Given the description of an element on the screen output the (x, y) to click on. 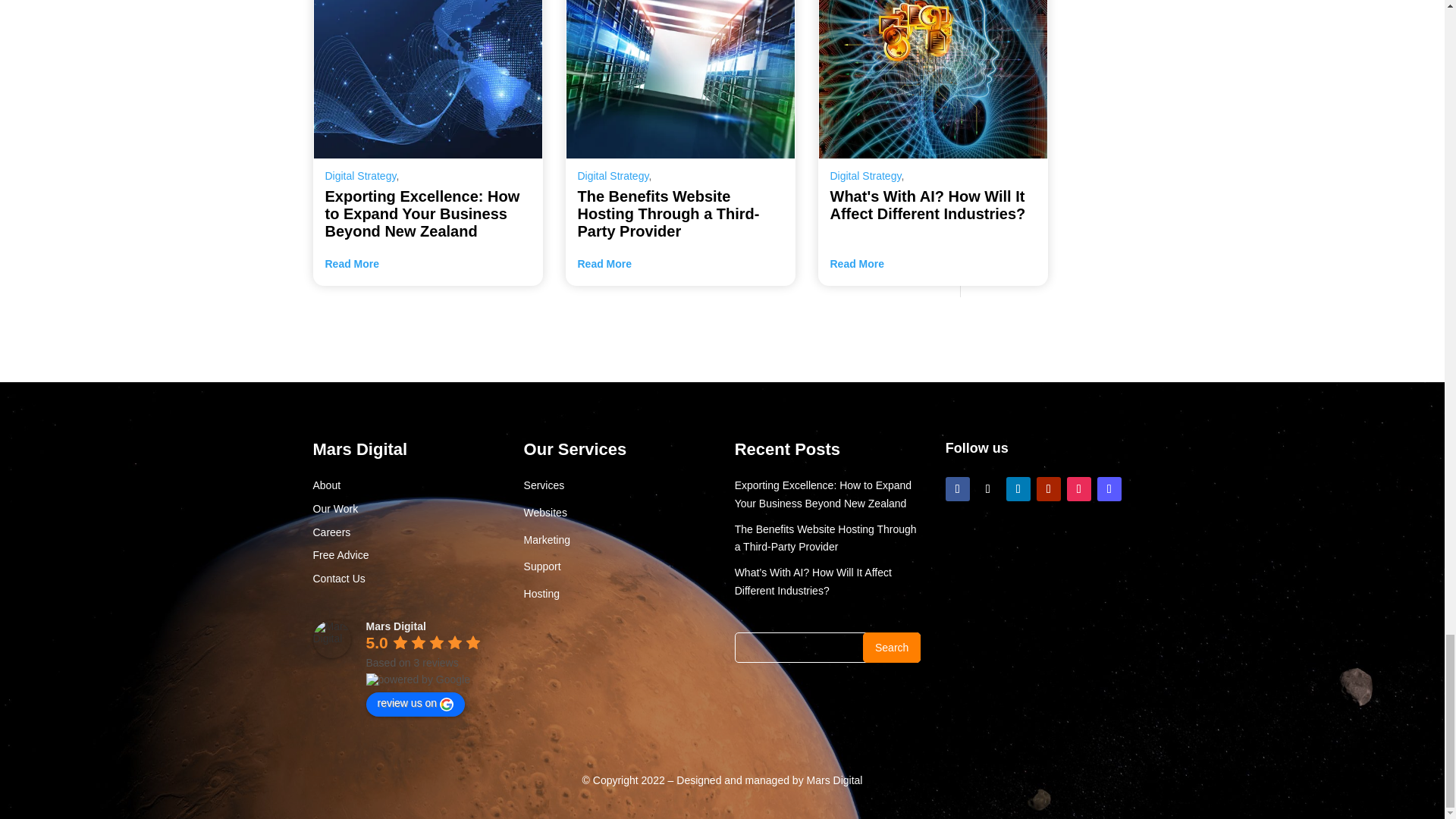
Follow on LinkedIn (1018, 488)
Search (891, 647)
Follow on Medium (1109, 488)
Follow on Facebook (956, 488)
Follow on X (987, 488)
Follow on Instagram (1078, 488)
Mars Digital (331, 638)
powered by Google (416, 679)
Follow on Youtube (1048, 488)
